Given the description of an element on the screen output the (x, y) to click on. 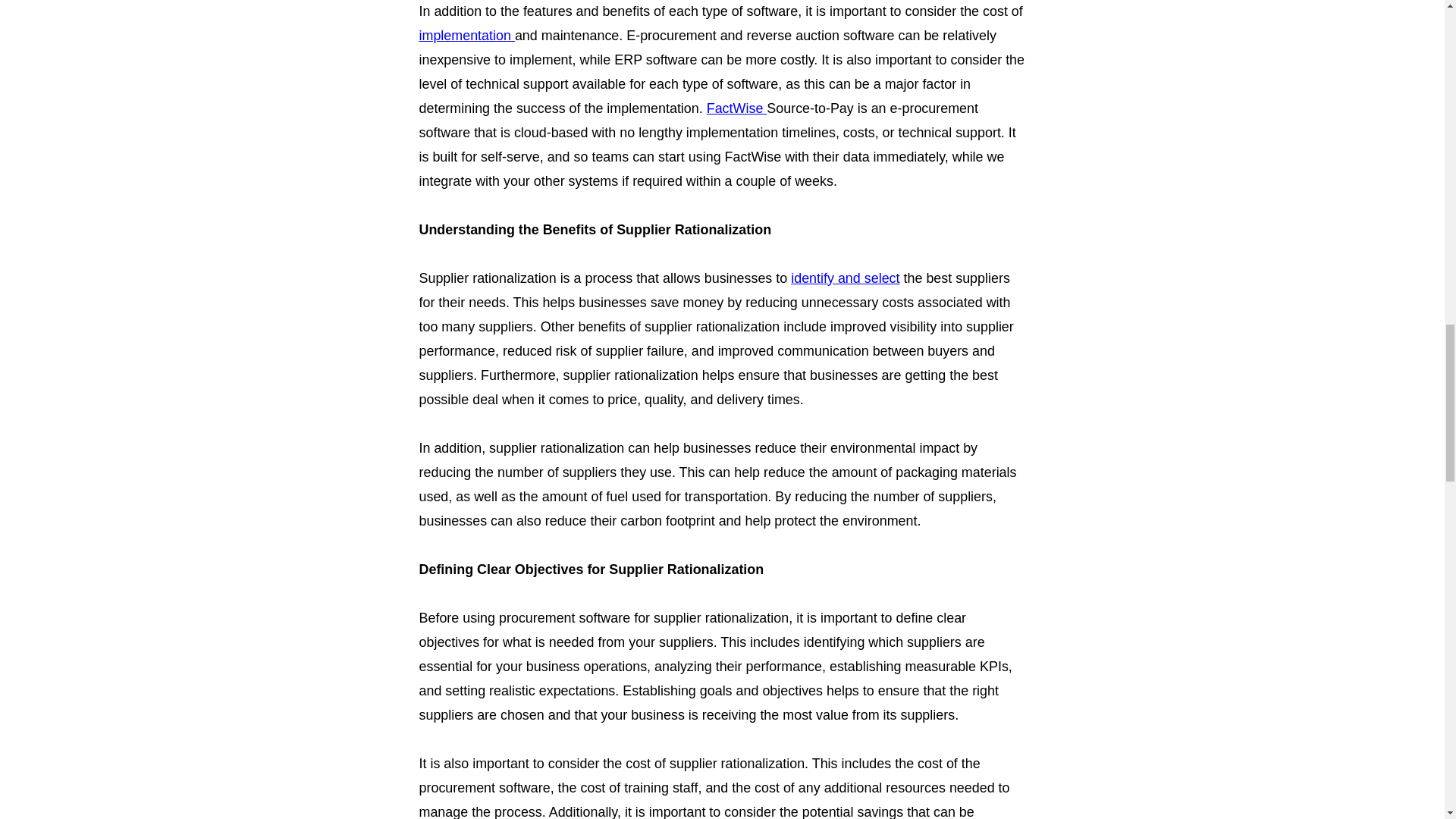
implementation (466, 35)
FactWise  (736, 108)
identify and select (844, 278)
